Given the description of an element on the screen output the (x, y) to click on. 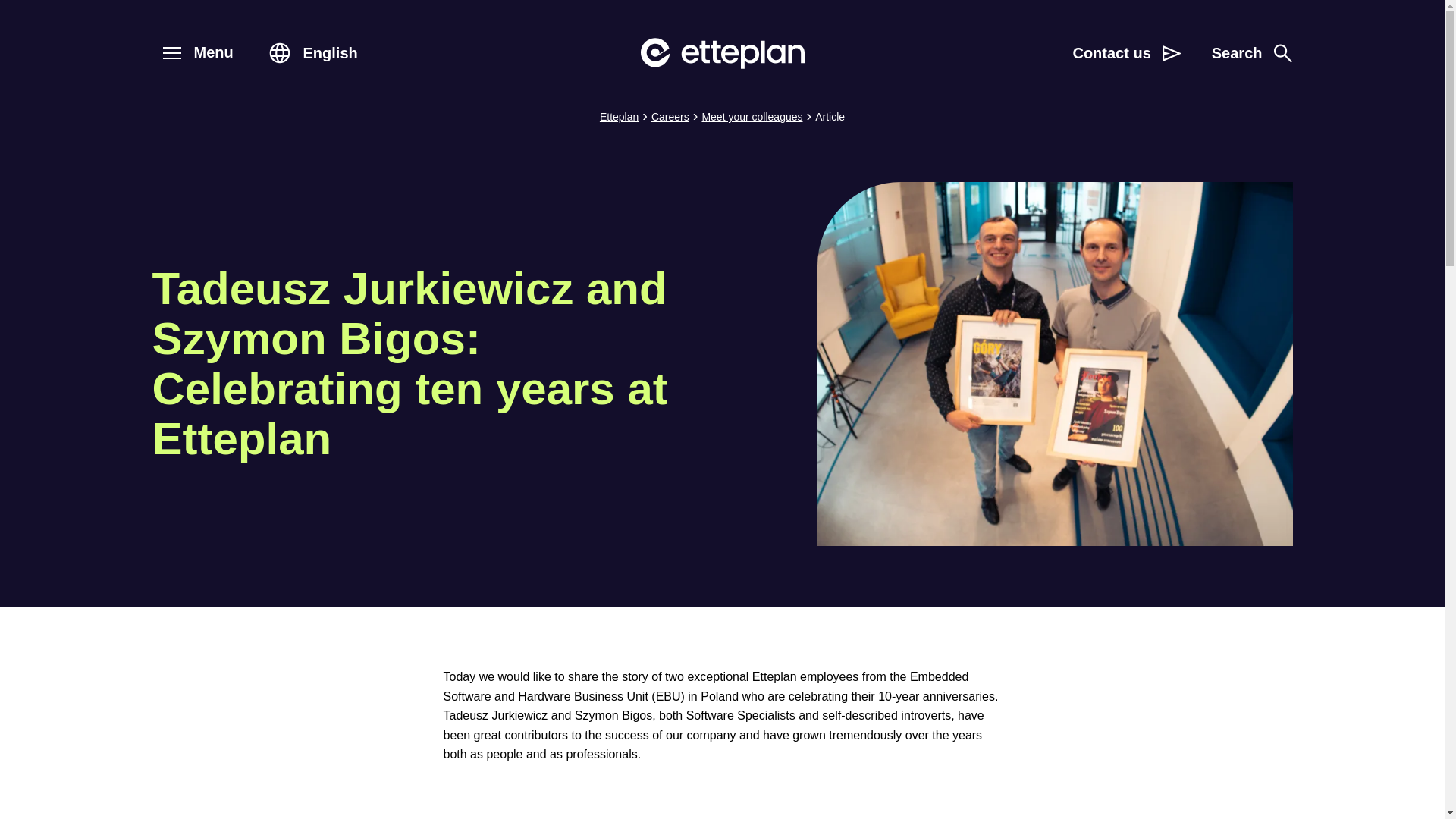
Menu (170, 52)
To front page (1251, 52)
